Given the description of an element on the screen output the (x, y) to click on. 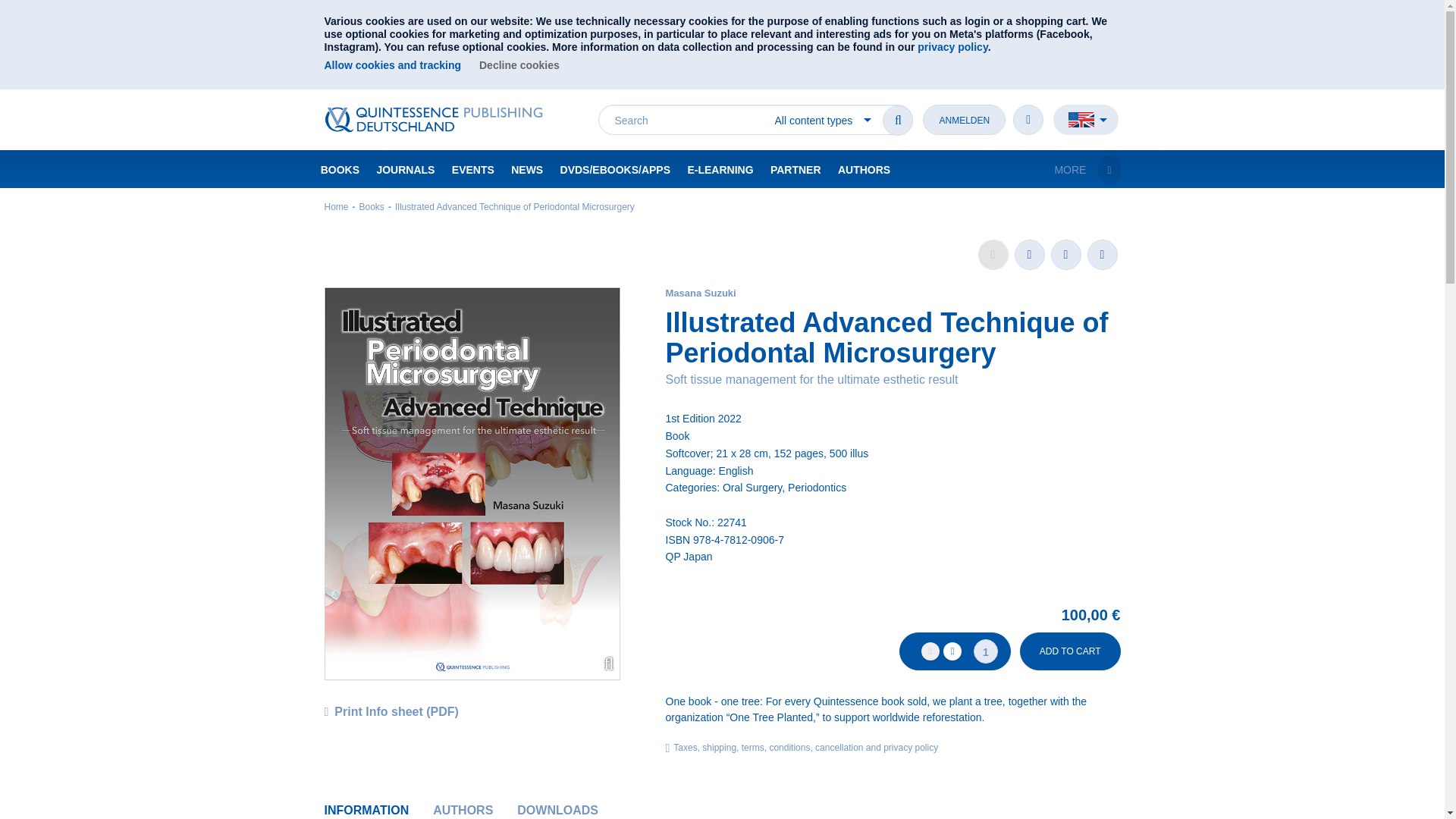
Decline cookies (519, 65)
Recommend by email (1102, 254)
Please log in to set a bookmark. (993, 254)
Share on Facebook (1029, 254)
Allow cookies and tracking (392, 65)
BOOKS (340, 168)
privacy policy (952, 46)
ANMELDEN (964, 119)
